Given the description of an element on the screen output the (x, y) to click on. 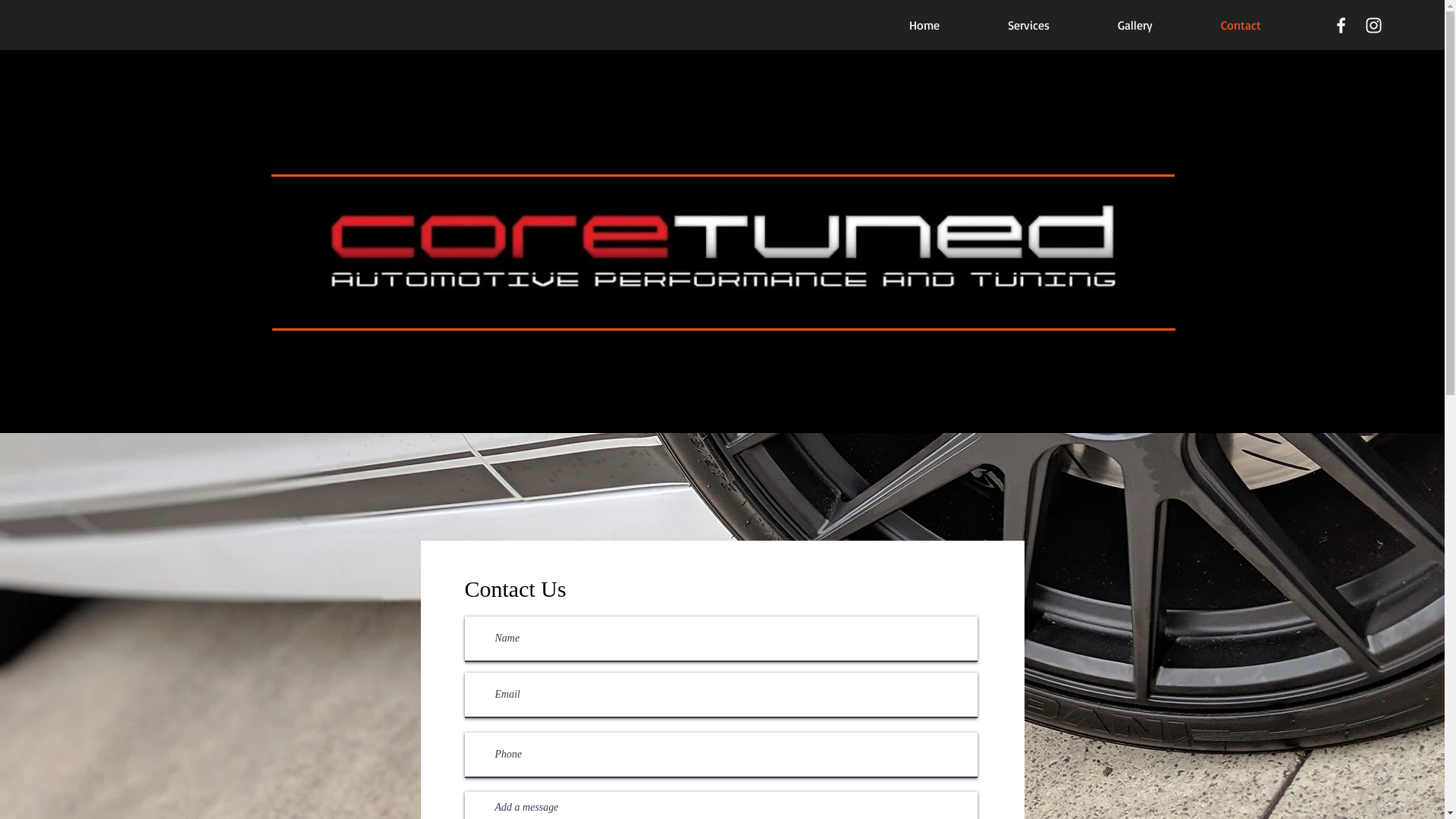
Home Element type: text (923, 24)
Gallery Element type: text (1134, 24)
Services Element type: text (1028, 24)
Contact Element type: text (1240, 24)
